Given the description of an element on the screen output the (x, y) to click on. 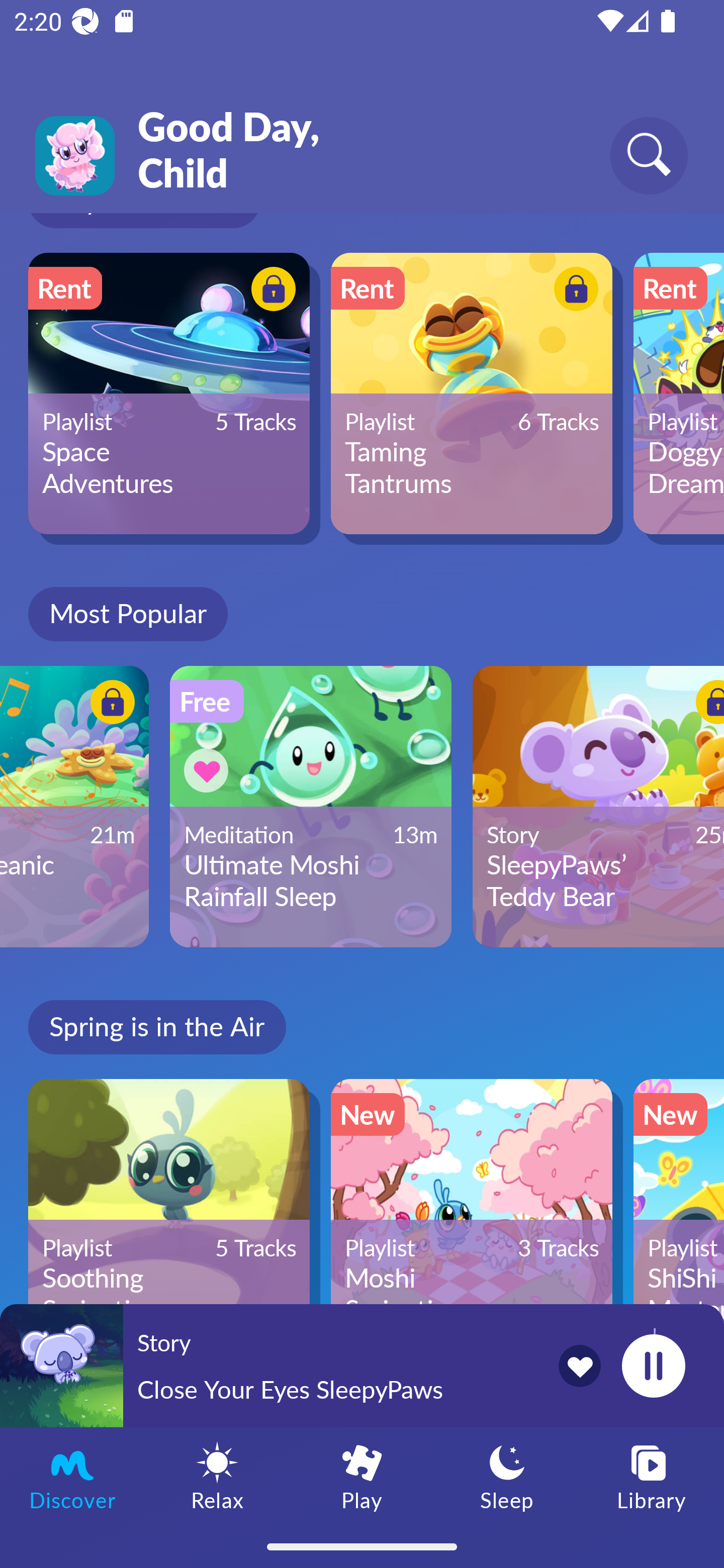
Search (648, 154)
Button (269, 291)
Button (573, 291)
Button (109, 705)
Button (699, 705)
Button (209, 769)
Story Close Your Eyes SleepyPaws 0.007547065 Pause (362, 1365)
0.007547065 Pause (653, 1365)
Relax (216, 1475)
Play (361, 1475)
Sleep (506, 1475)
Library (651, 1475)
